Given the description of an element on the screen output the (x, y) to click on. 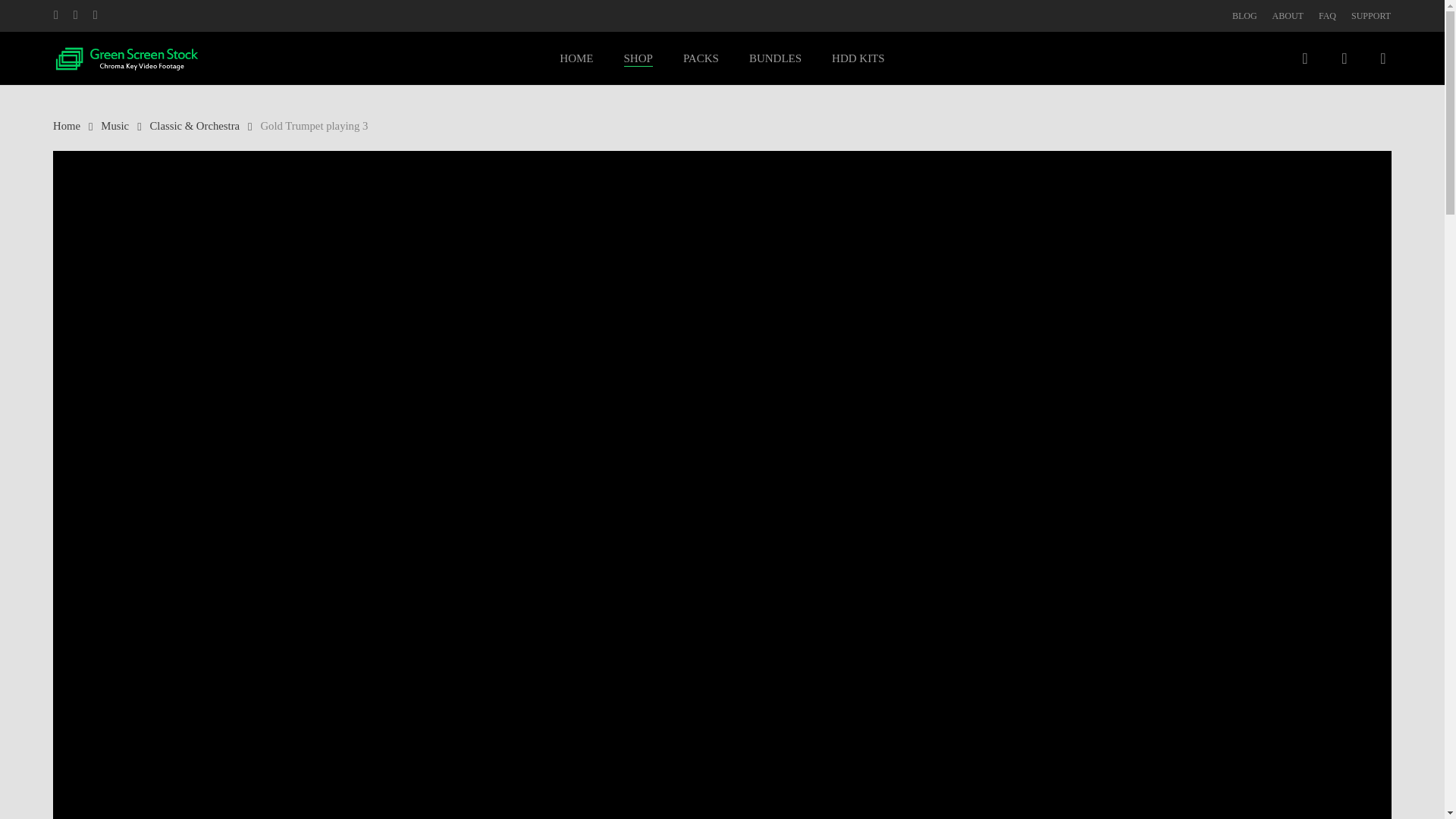
SUPPORT (1370, 15)
BLOG (1244, 15)
FAQ (1327, 15)
HDD KITS (858, 58)
SHOP (638, 58)
account (1344, 57)
search (1304, 57)
ABOUT (1287, 15)
PACKS (700, 58)
BUNDLES (775, 58)
HOME (575, 58)
Home (66, 125)
Music (114, 125)
